Given the description of an element on the screen output the (x, y) to click on. 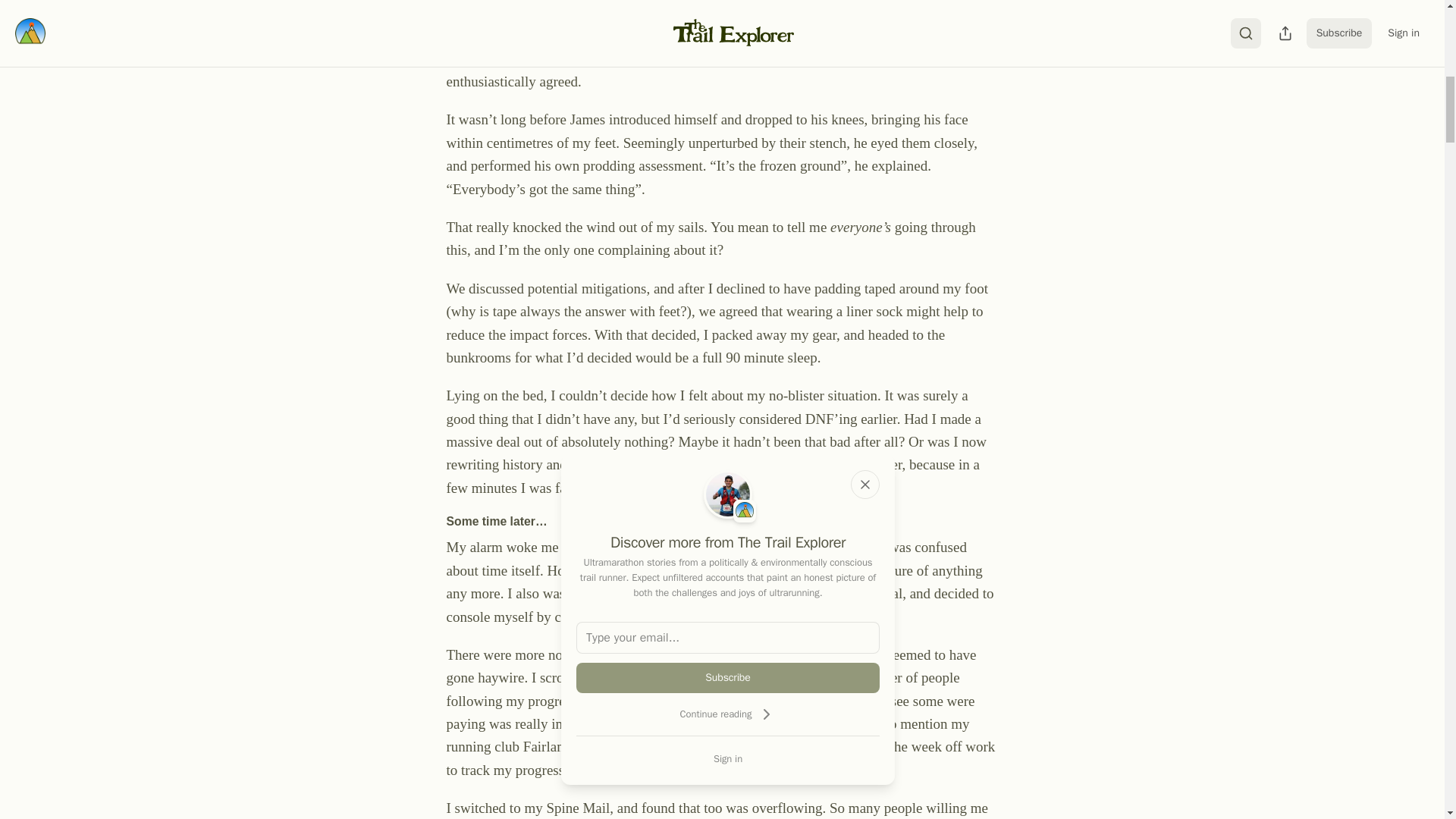
Sign in (727, 758)
Subscribe (727, 677)
